Given the description of an element on the screen output the (x, y) to click on. 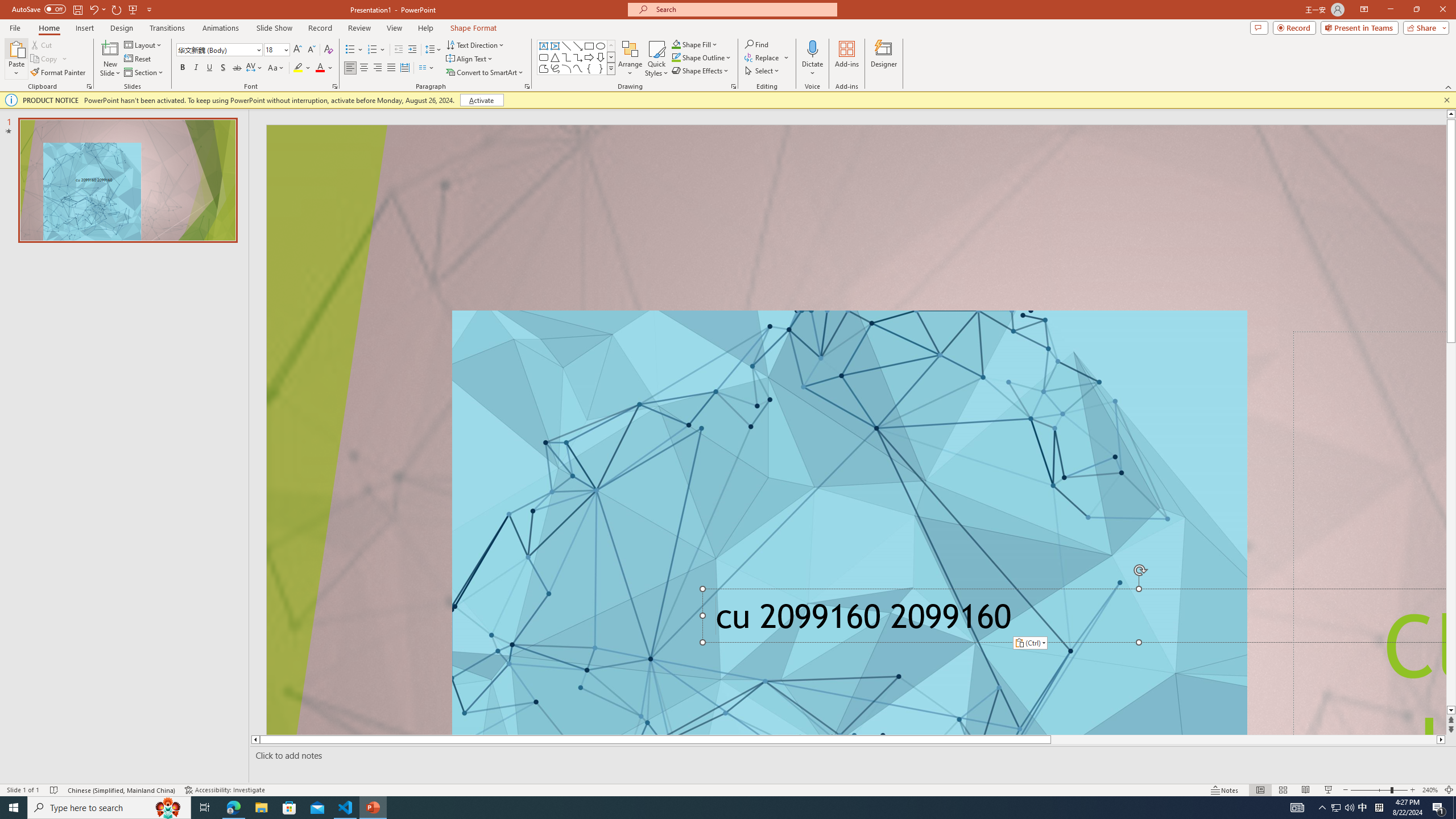
Close this message (1446, 99)
